Given the description of an element on the screen output the (x, y) to click on. 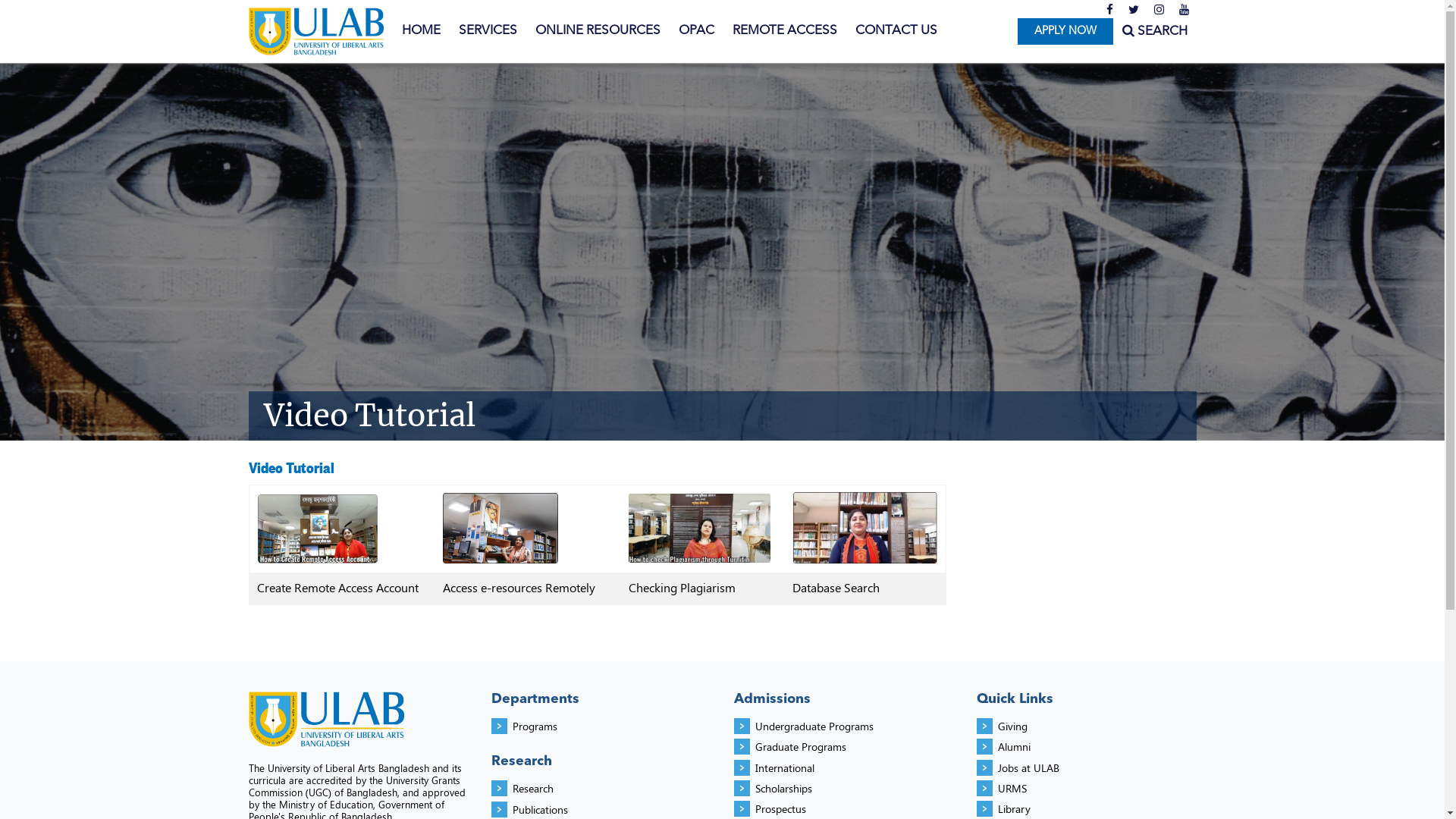
ONLINE RESOURCES Element type: text (597, 30)
Skip to main content Element type: text (54, 0)
Research Element type: text (532, 788)
Library Element type: text (1013, 808)
CONTACT US Element type: text (896, 30)
International Element type: text (784, 767)
Publications Element type: text (539, 809)
Prospectus Element type: text (780, 808)
Scholarships Element type: text (783, 788)
Jobs at ULAB Element type: text (1028, 767)
Undergraduate Programs Element type: text (814, 725)
URMS Element type: text (1011, 788)
Giving Element type: text (1012, 725)
SEARCH Element type: text (1154, 31)
Graduate Programs Element type: text (800, 746)
REMOTE ACCESS Element type: text (784, 30)
Alumni Element type: text (1013, 746)
HOME Element type: text (420, 30)
SERVICES Element type: text (487, 30)
APPLY NOW Element type: text (1064, 31)
OPAC Element type: text (695, 30)
Programs Element type: text (534, 725)
